Given the description of an element on the screen output the (x, y) to click on. 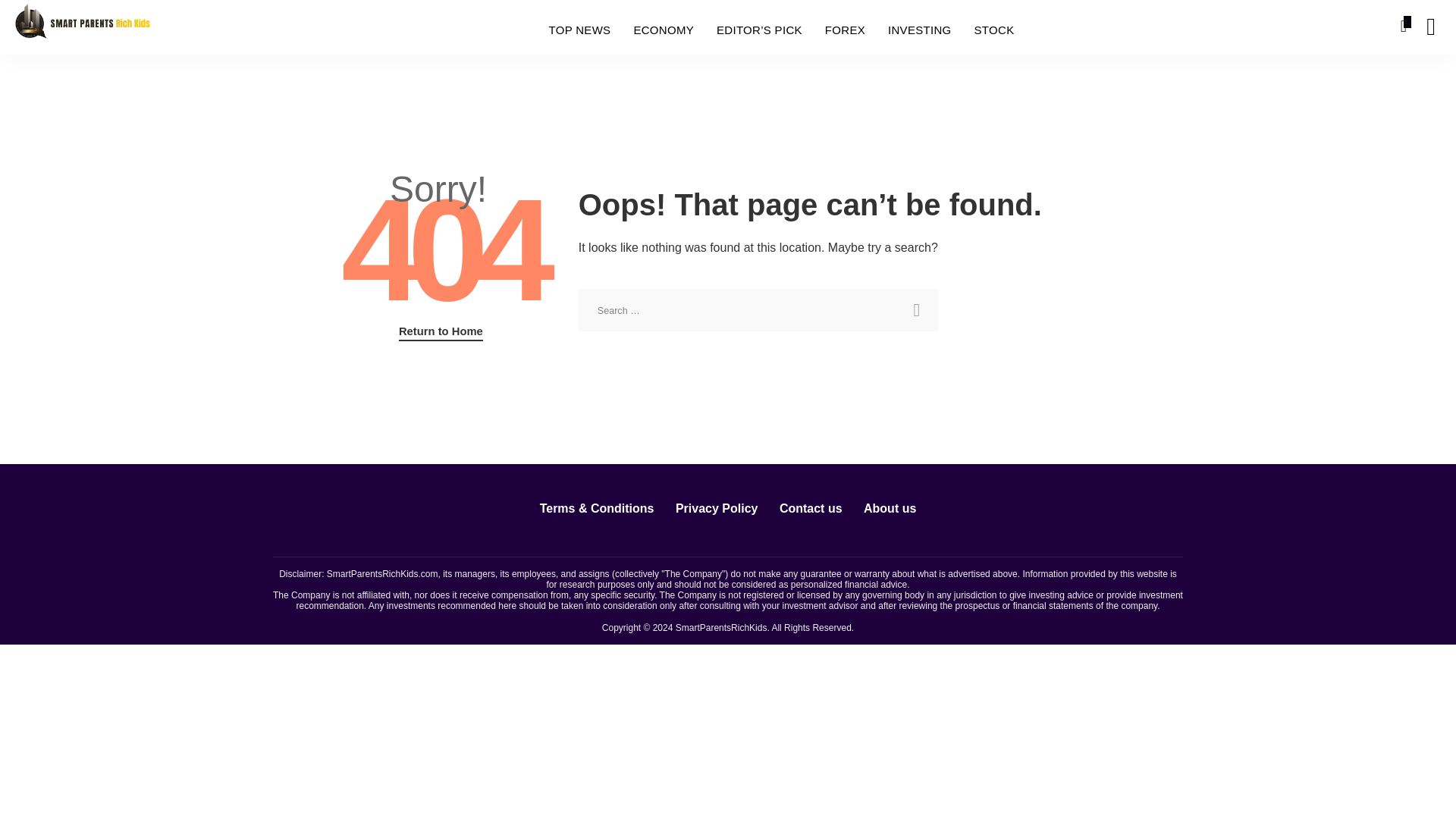
Search (916, 310)
Privacy Policy (716, 507)
Search (916, 310)
Return to Home (440, 331)
Contact us (810, 507)
Search (1146, 27)
About us (889, 507)
INVESTING (919, 30)
ECONOMY (662, 30)
SmartParentsRichKids.com (382, 573)
Return to Home (440, 331)
Search (916, 310)
STOCK (994, 30)
Search (1419, 84)
Smart Parents Rich Kids (81, 26)
